Given the description of an element on the screen output the (x, y) to click on. 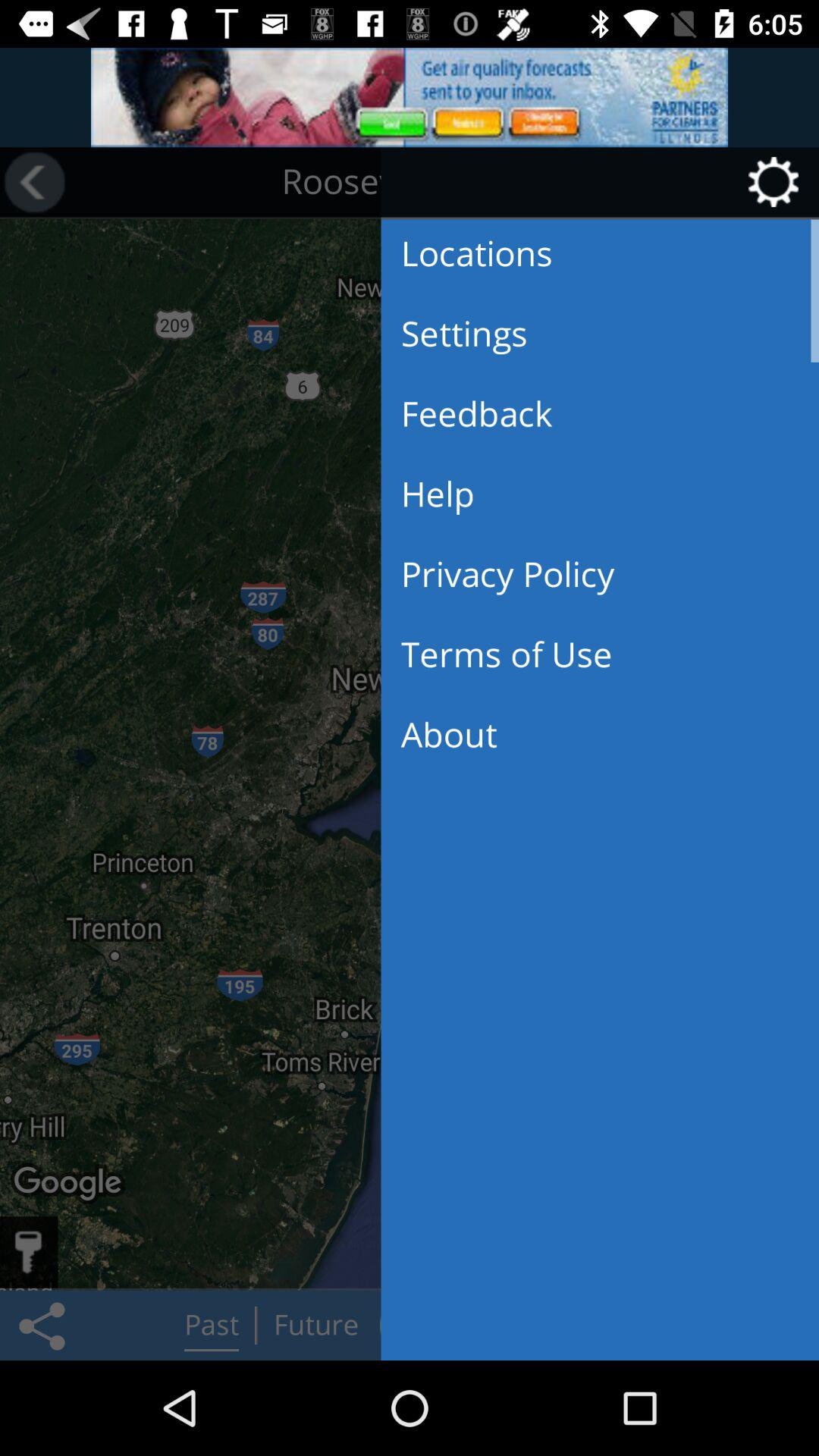
click on the button at the top right corner of the page (778, 181)
click on the button next to share icon (211, 1325)
select the text at bottom left corner (69, 1184)
click on the button at the top right corner of the page (600, 183)
